Given the description of an element on the screen output the (x, y) to click on. 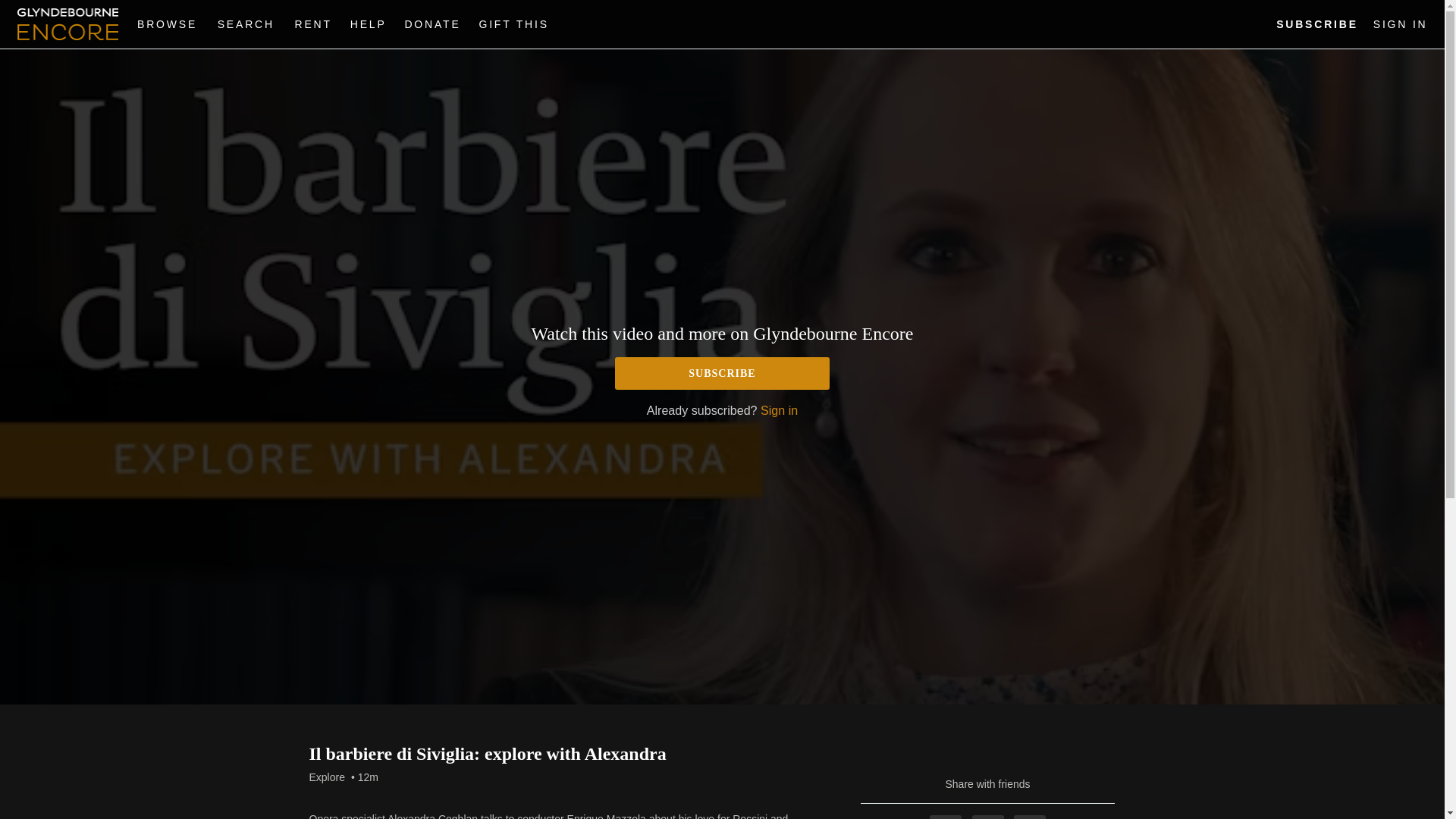
SUBSCRIBE (721, 373)
DONATE (431, 24)
Explore (326, 776)
SEARCH (247, 24)
RENT (312, 24)
SIGN IN (1400, 24)
Sign in (778, 409)
SUBSCRIBE (1317, 24)
HELP (368, 24)
EMAIL (1029, 816)
BROWSE (169, 24)
GIFT THIS (513, 24)
FACEBOOK (945, 816)
TWITTER (988, 816)
Skip to main content (48, 7)
